Given the description of an element on the screen output the (x, y) to click on. 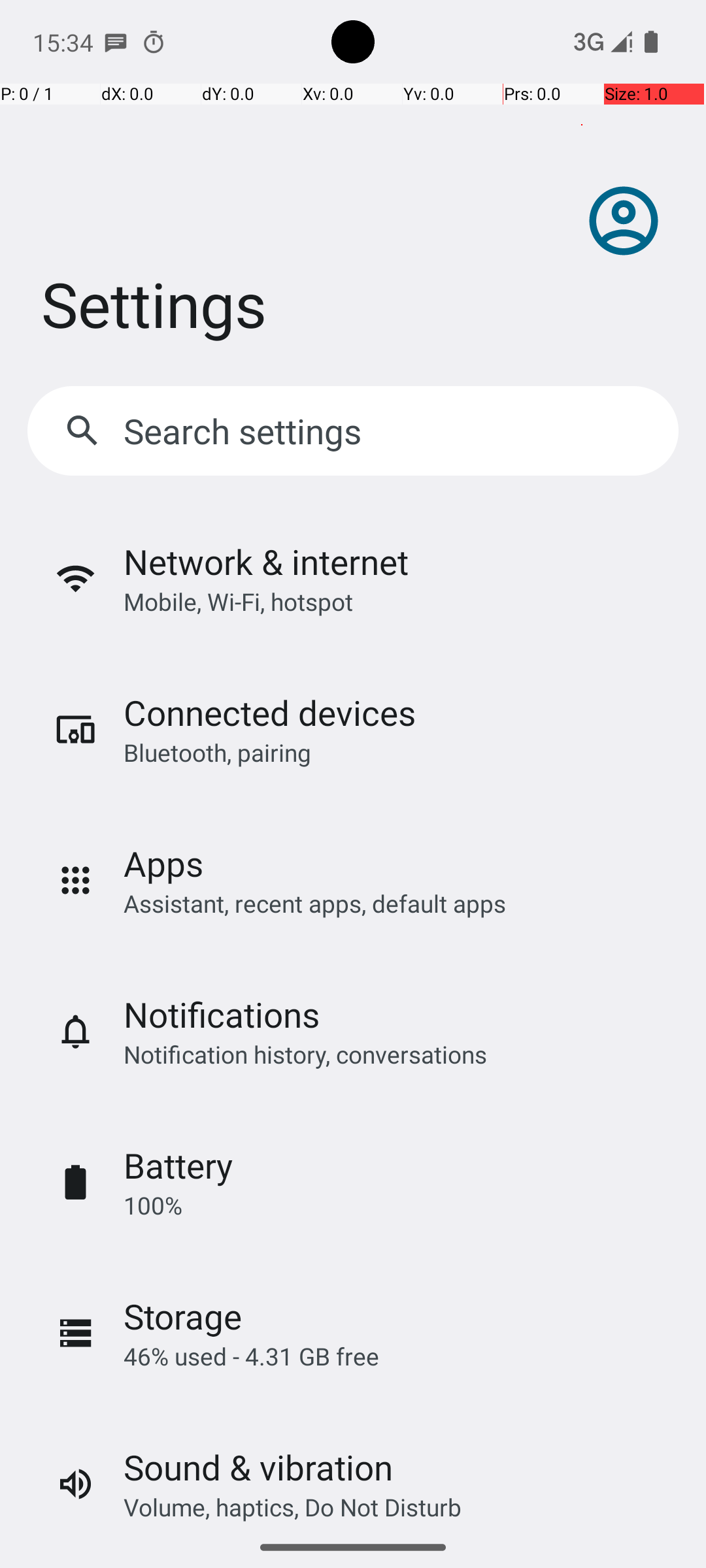
46% used - 4.31 GB free Element type: android.widget.TextView (251, 1355)
